Given the description of an element on the screen output the (x, y) to click on. 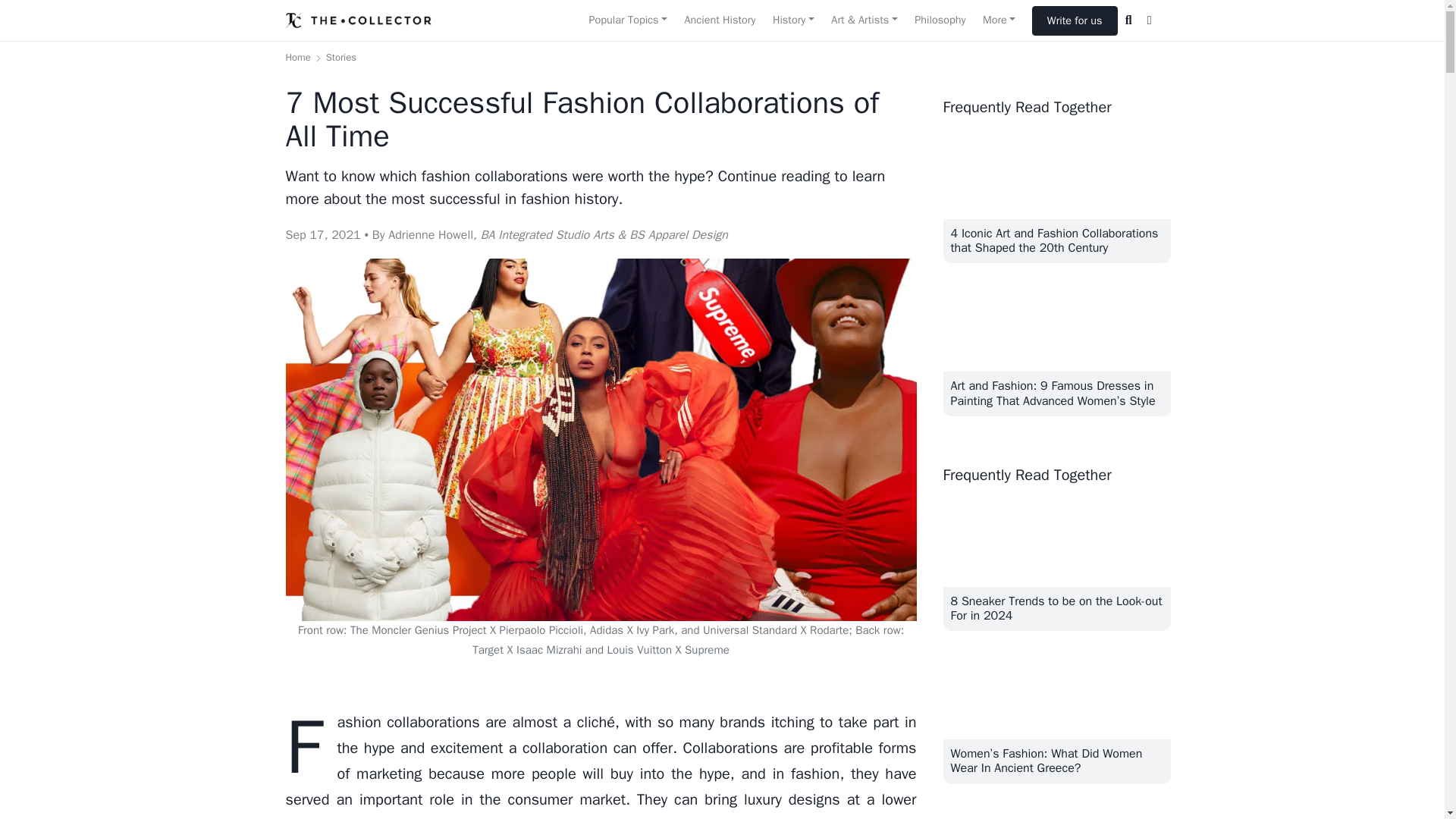
Popular Topics (627, 20)
More (999, 20)
Ancient History (718, 20)
History (793, 20)
Write for us (1075, 20)
Philosophy (939, 20)
